Given the description of an element on the screen output the (x, y) to click on. 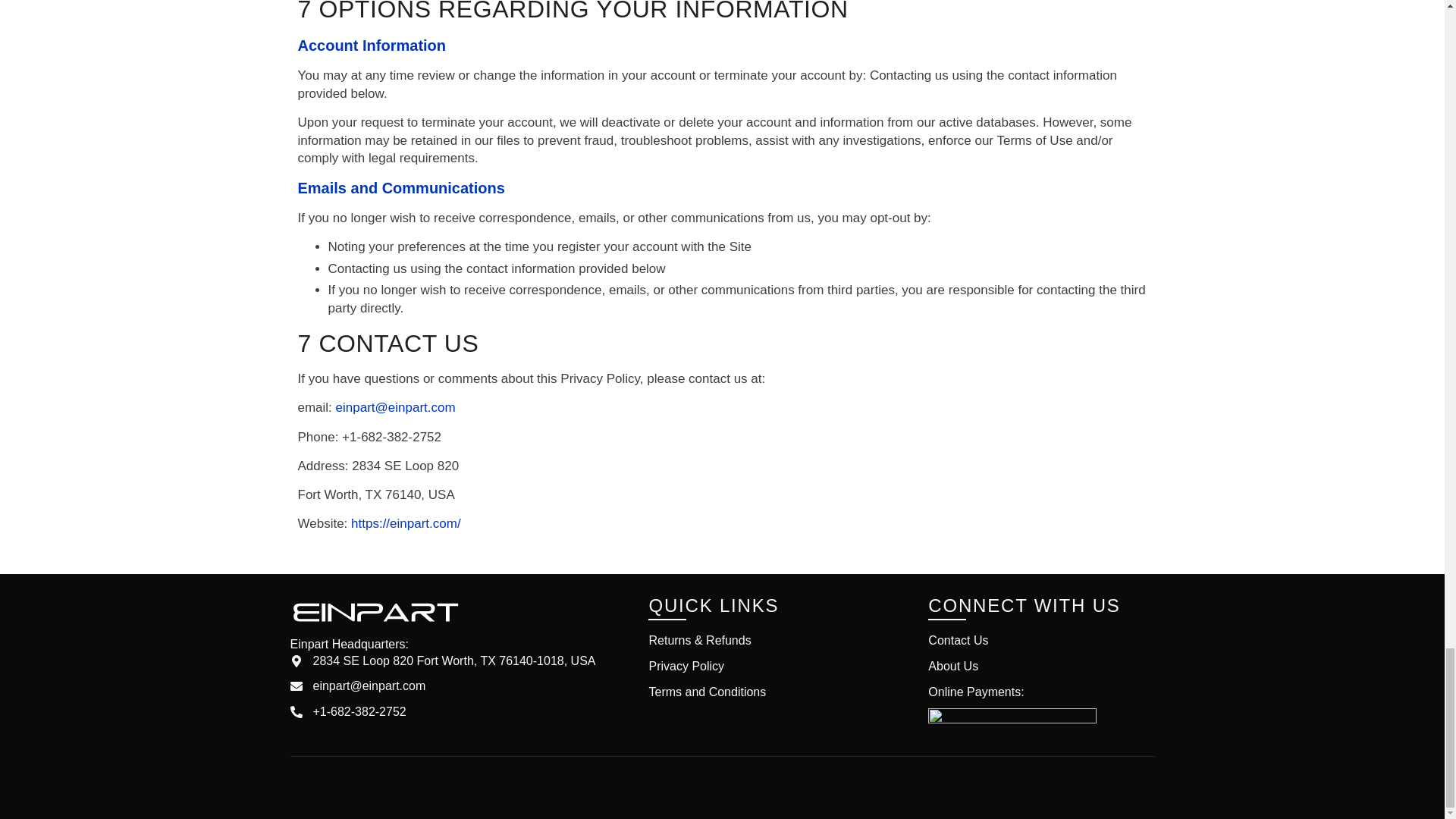
About Us (1039, 666)
Terms and Conditions (776, 692)
Privacy Policy (776, 666)
Contact Us (1039, 640)
